Given the description of an element on the screen output the (x, y) to click on. 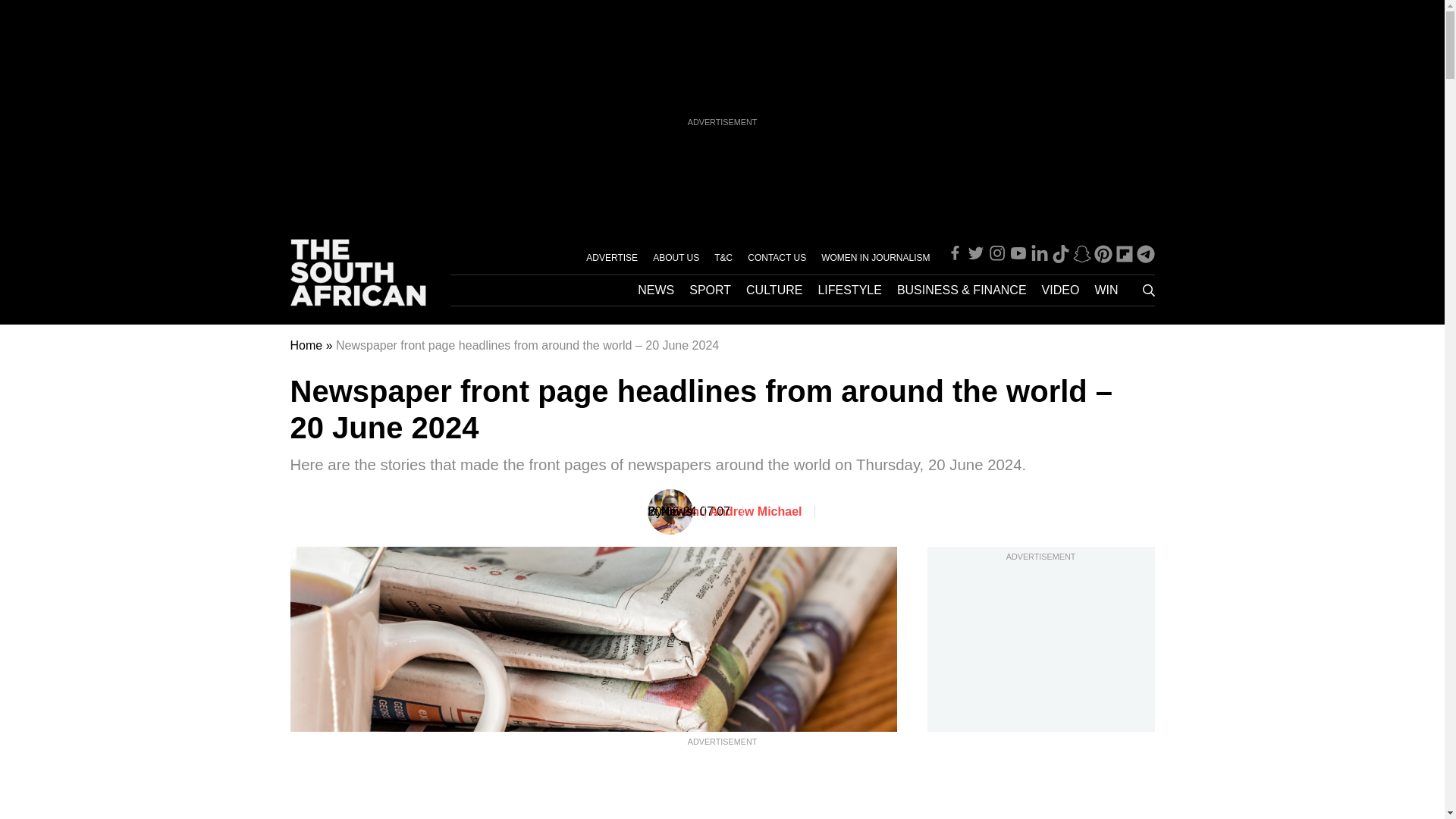
WOMEN IN JOURNALISM (875, 256)
ADVERTISE (611, 256)
CONTACT US (777, 256)
ABOUT US (675, 256)
NEWS (655, 289)
